Given the description of an element on the screen output the (x, y) to click on. 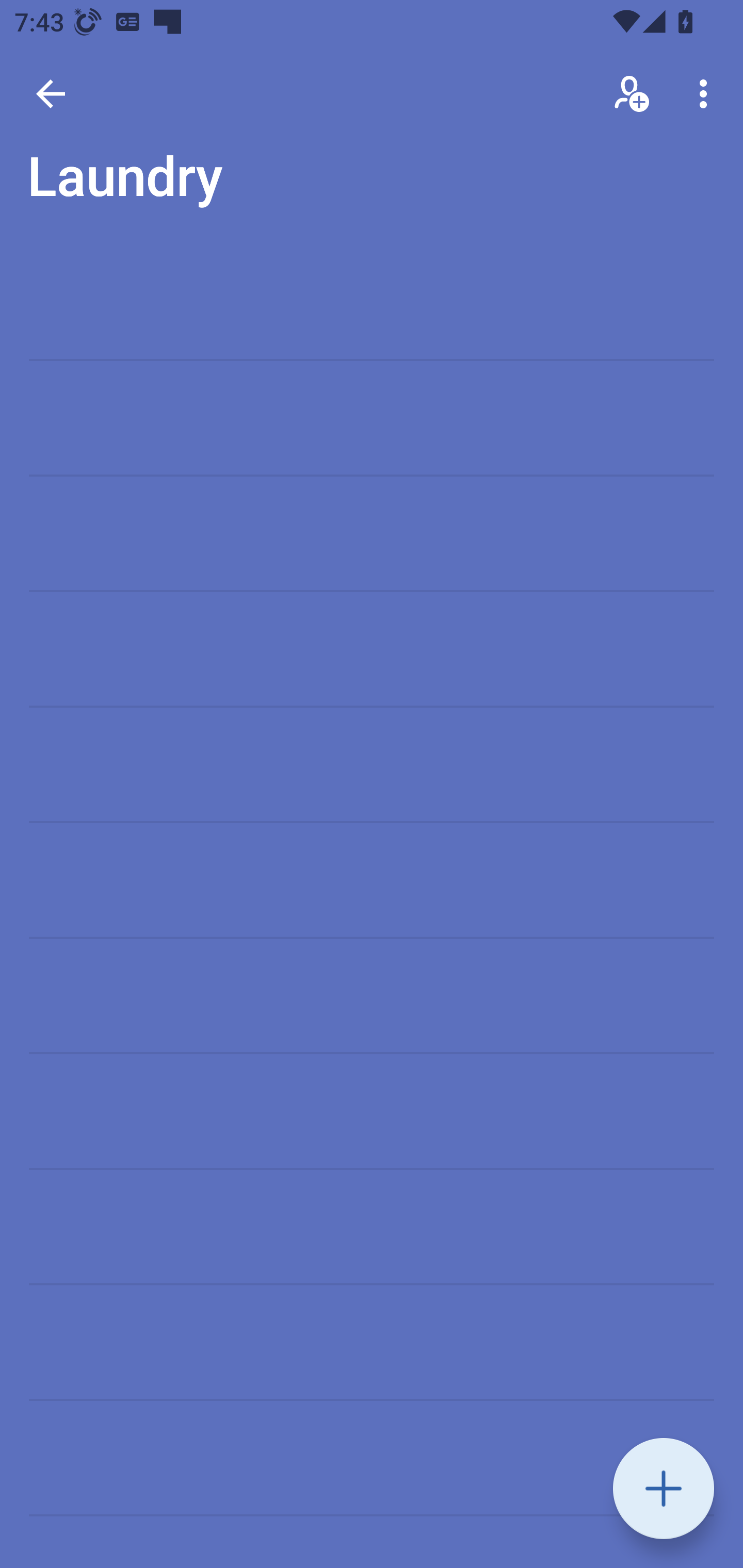
Back (50, 93)
Share list (632, 93)
More options (706, 93)
My Day, 0 tasks (182, 187)
Add a task (663, 1488)
